Given the description of an element on the screen output the (x, y) to click on. 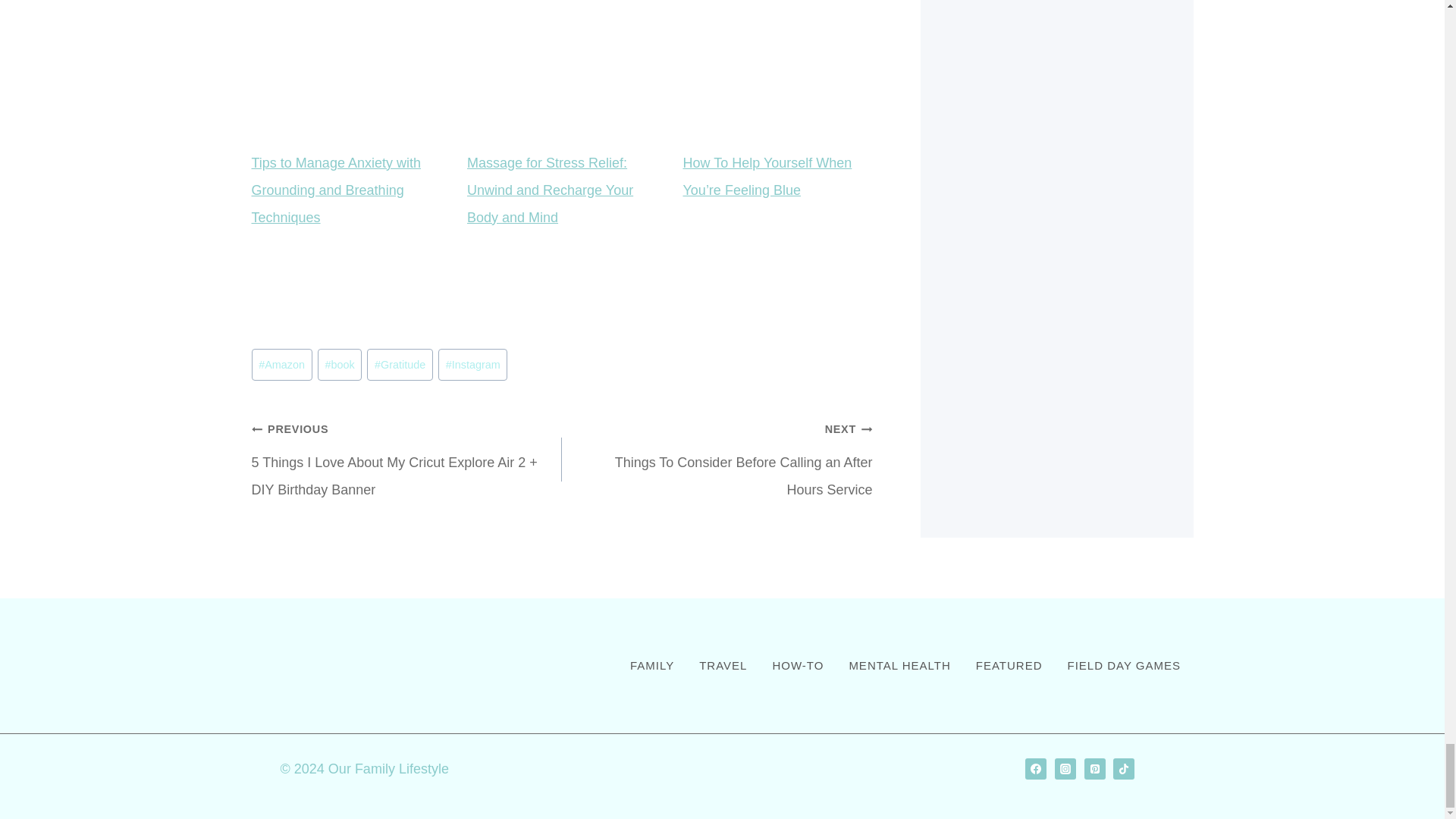
Instagram (444, 399)
Gratitude (378, 399)
Amazon (279, 399)
book (327, 399)
